Given the description of an element on the screen output the (x, y) to click on. 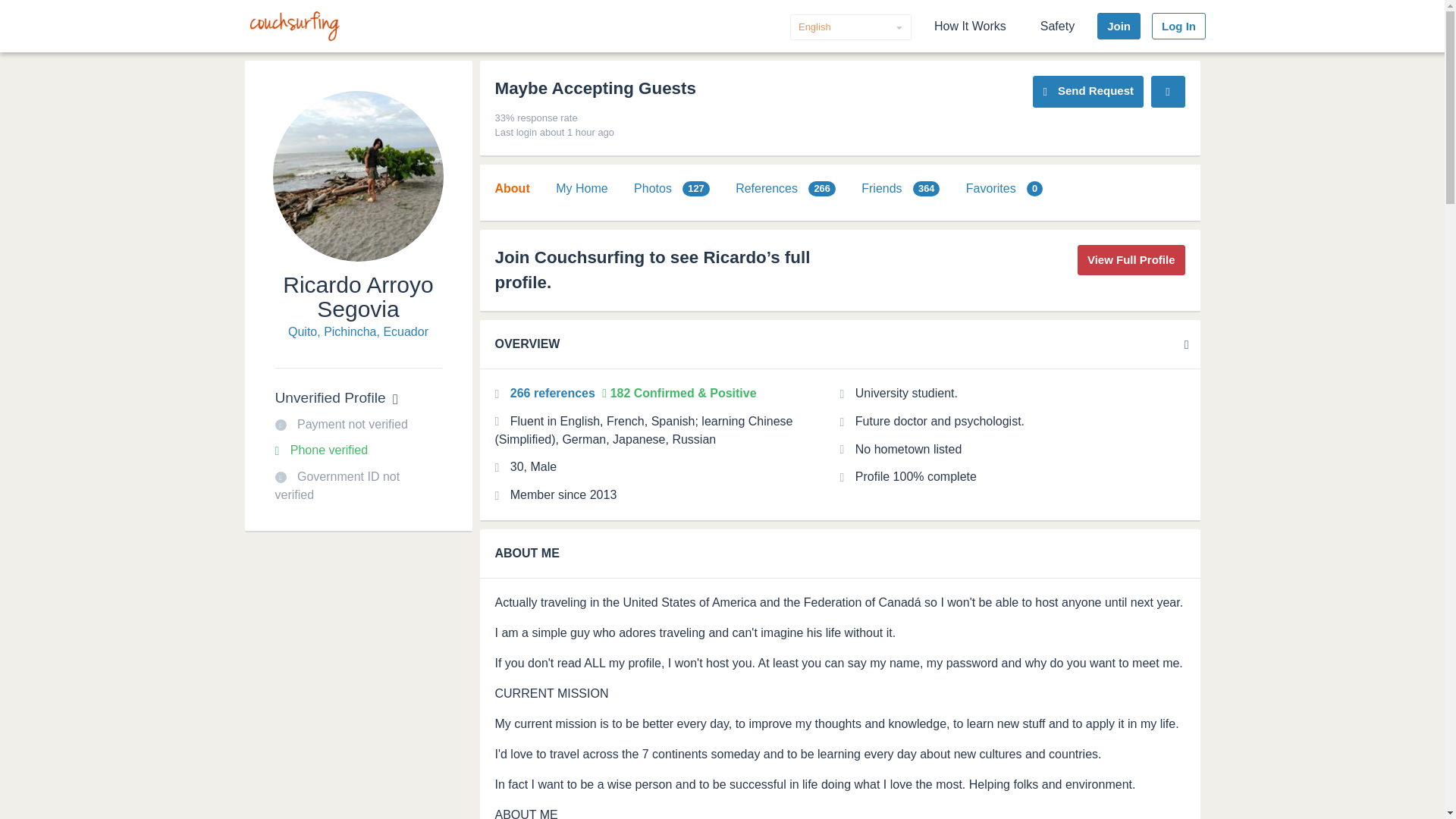
Quito, Pichincha, Ecuador (358, 331)
266 references (554, 392)
Couchsurfing (294, 25)
About (512, 188)
Photos 127 (671, 188)
Join (1118, 26)
Log In (1178, 26)
How It Works (970, 26)
References 266 (785, 188)
Friends 364 (900, 188)
My Home (581, 188)
Favorites 0 (1004, 188)
Safety (1057, 26)
Send Request (1087, 91)
Ricardo Arroyo Segovia (357, 296)
